Given the description of an element on the screen output the (x, y) to click on. 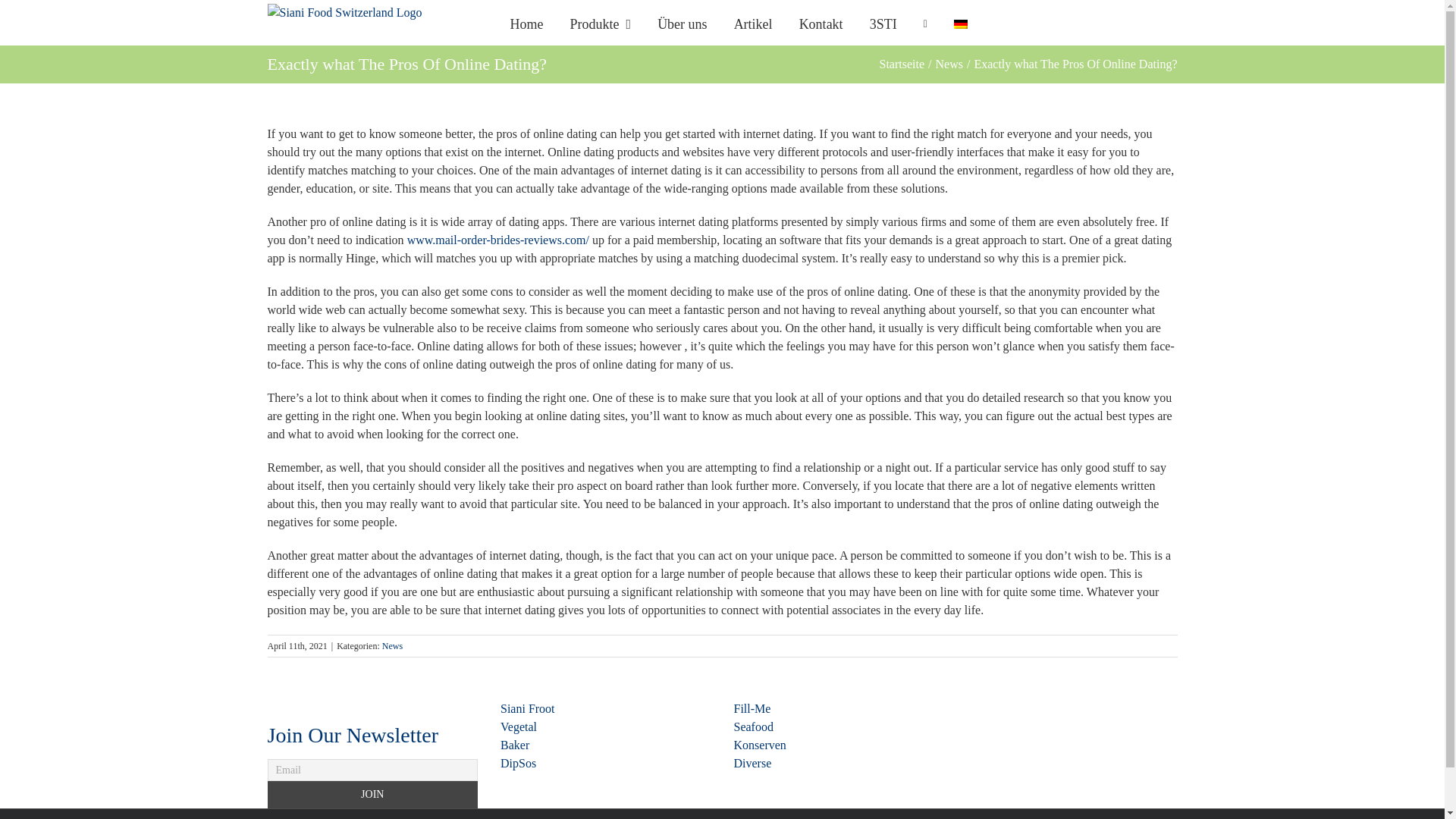
JOIN (371, 794)
Produkte (600, 22)
Kontakt (821, 22)
